Given the description of an element on the screen output the (x, y) to click on. 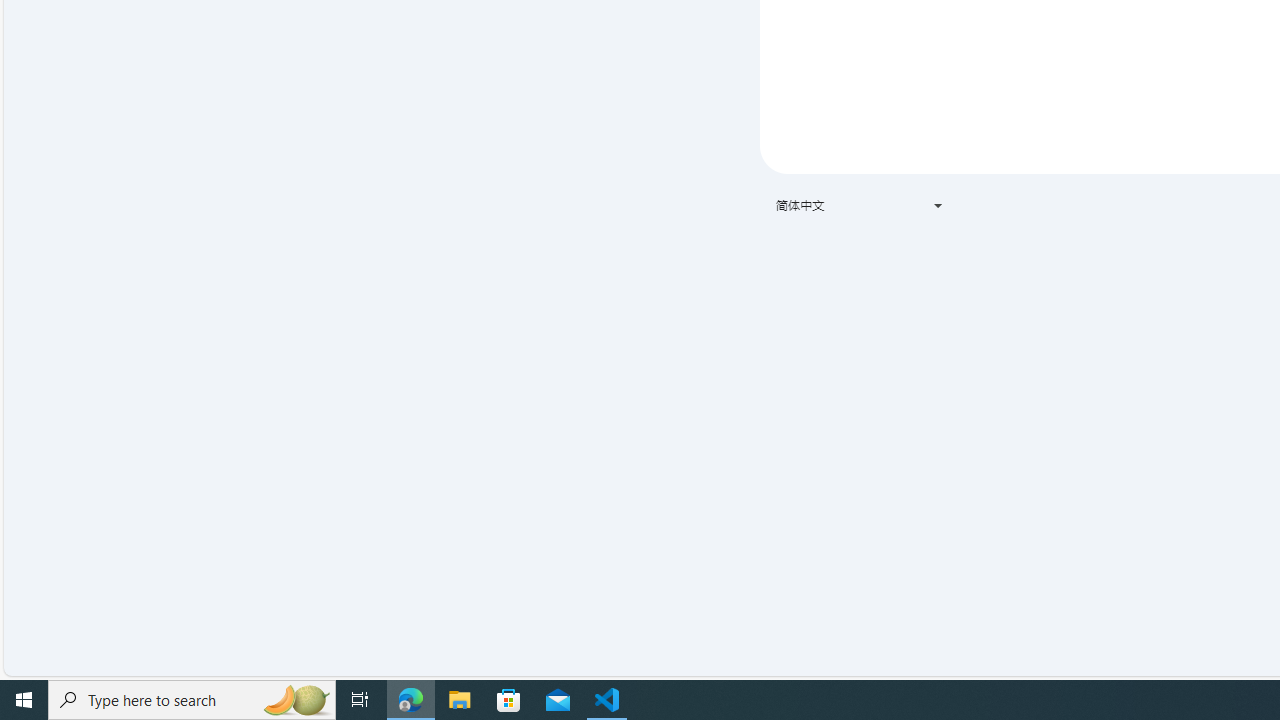
Class: VfPpkd-t08AT-Bz112c-Bd00G (938, 205)
